Given the description of an element on the screen output the (x, y) to click on. 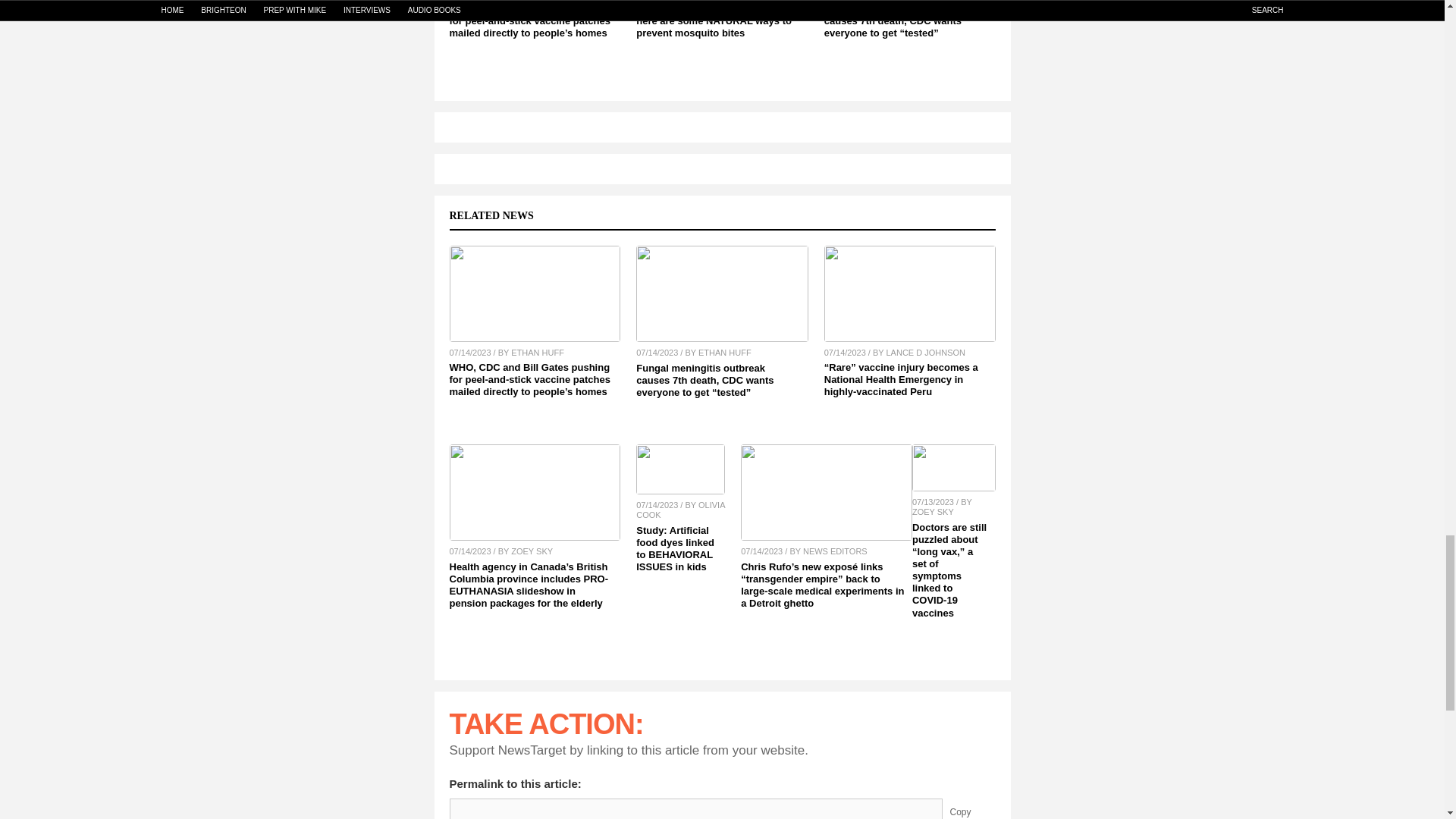
Copy Permalink (971, 808)
